Given the description of an element on the screen output the (x, y) to click on. 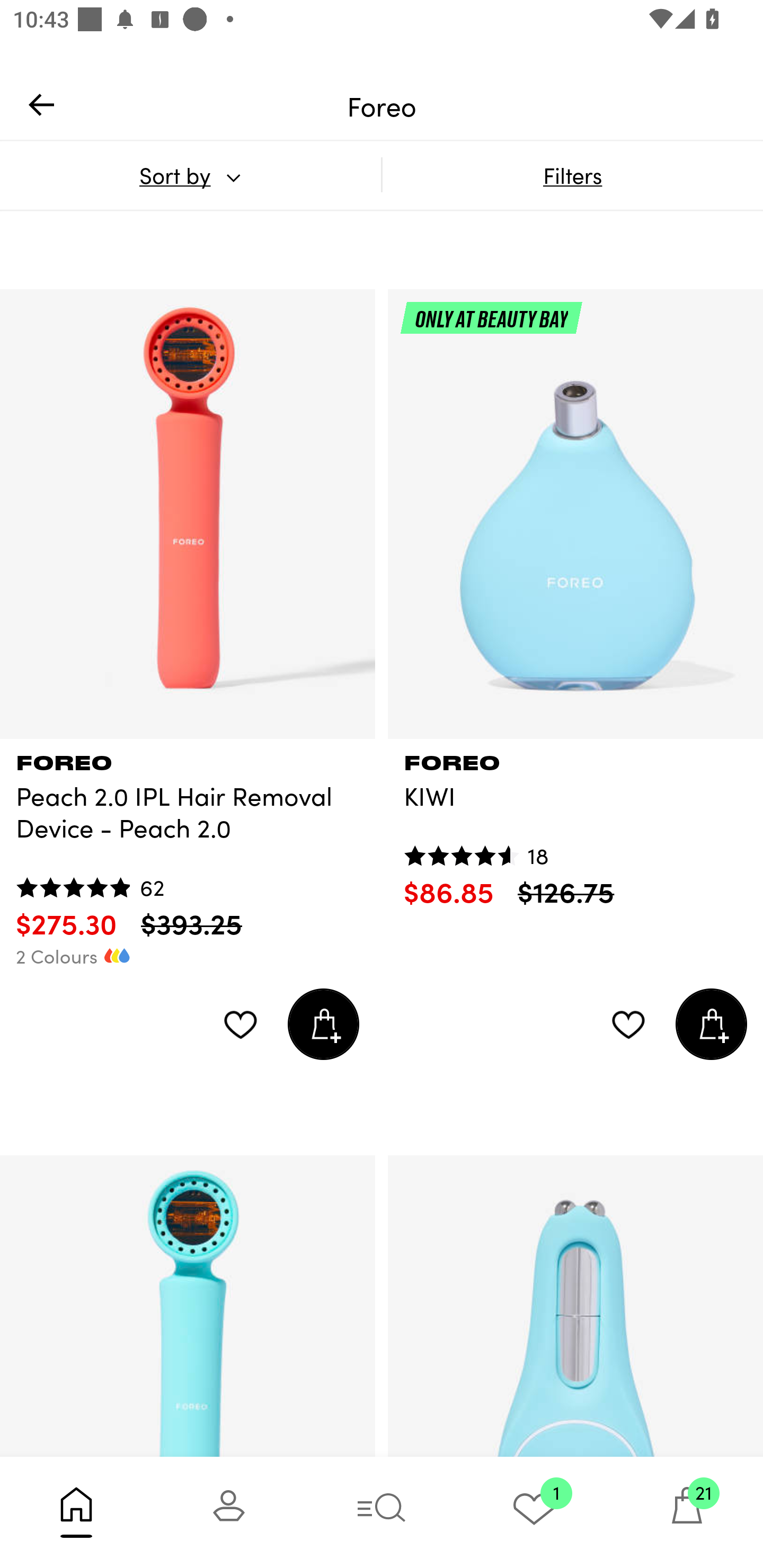
Sort by (190, 174)
Filters (572, 174)
FOREO KIWI 18 $86.85 $126.75 (575, 824)
1 (533, 1512)
21 (686, 1512)
